Given the description of an element on the screen output the (x, y) to click on. 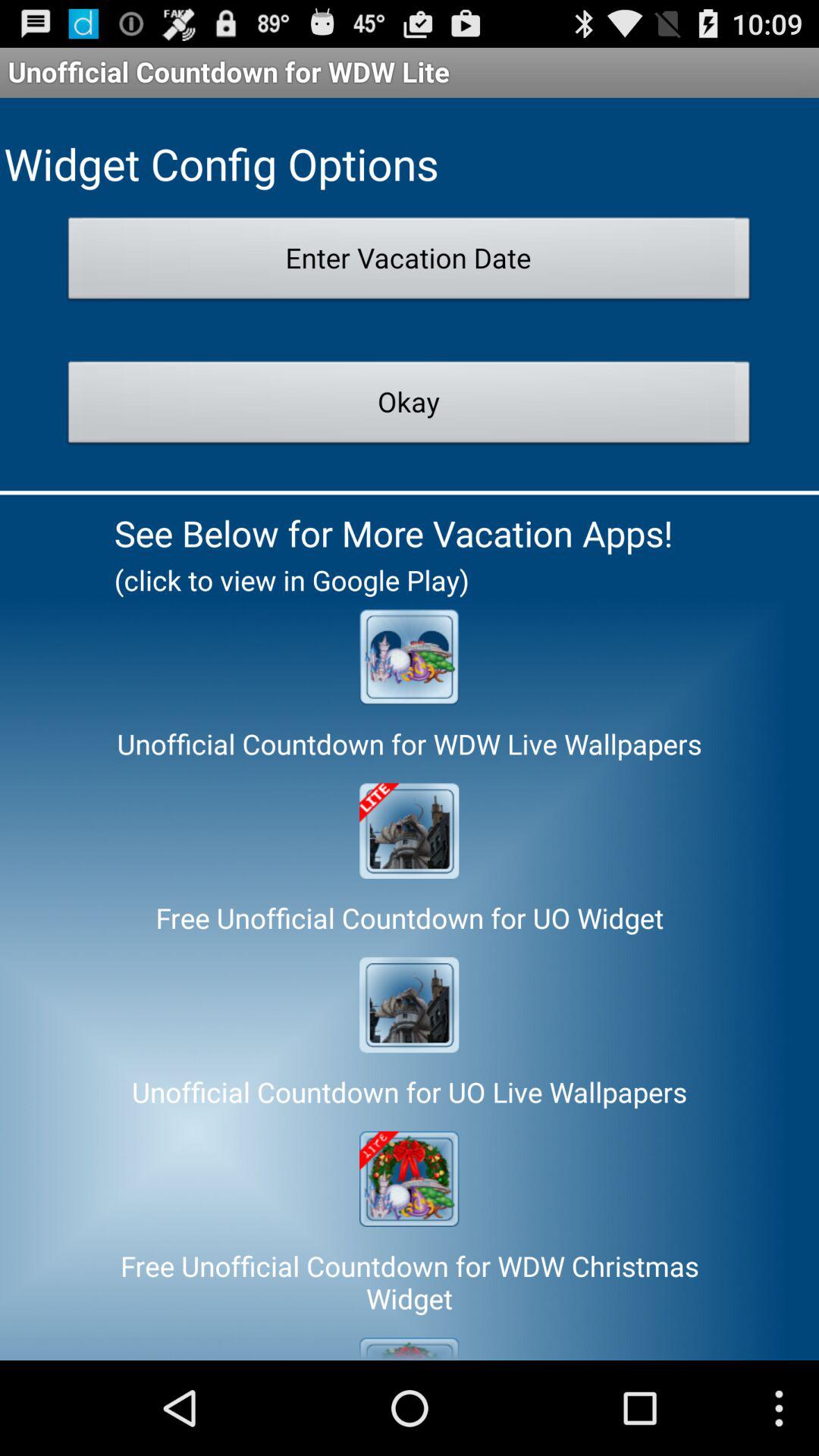
swipe to okay icon (408, 406)
